Given the description of an element on the screen output the (x, y) to click on. 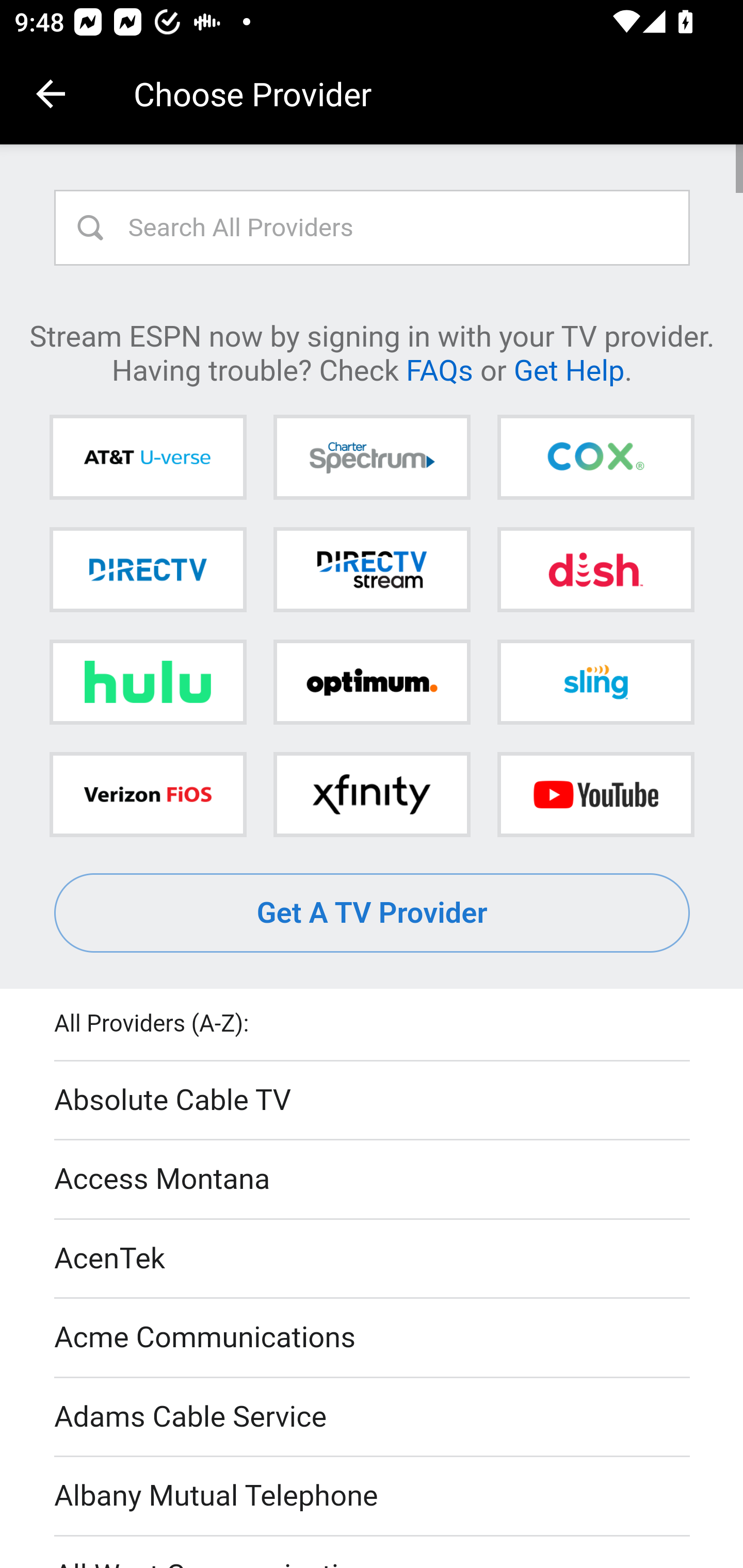
Navigate up (50, 93)
FAQs (438, 369)
Get Help (569, 369)
AT&T U-verse (147, 457)
Charter Spectrum (371, 457)
Cox (595, 457)
DIRECTV (147, 568)
DIRECTV STREAM (371, 568)
DISH (595, 568)
Hulu (147, 681)
Optimum (371, 681)
Sling TV (595, 681)
Verizon FiOS (147, 793)
Xfinity (371, 793)
YouTube TV (595, 793)
Get A TV Provider (372, 912)
Absolute Cable TV (372, 1100)
Access Montana (372, 1178)
AcenTek (372, 1258)
Acme Communications (372, 1338)
Adams Cable Service (372, 1417)
Albany Mutual Telephone (372, 1497)
